Given the description of an element on the screen output the (x, y) to click on. 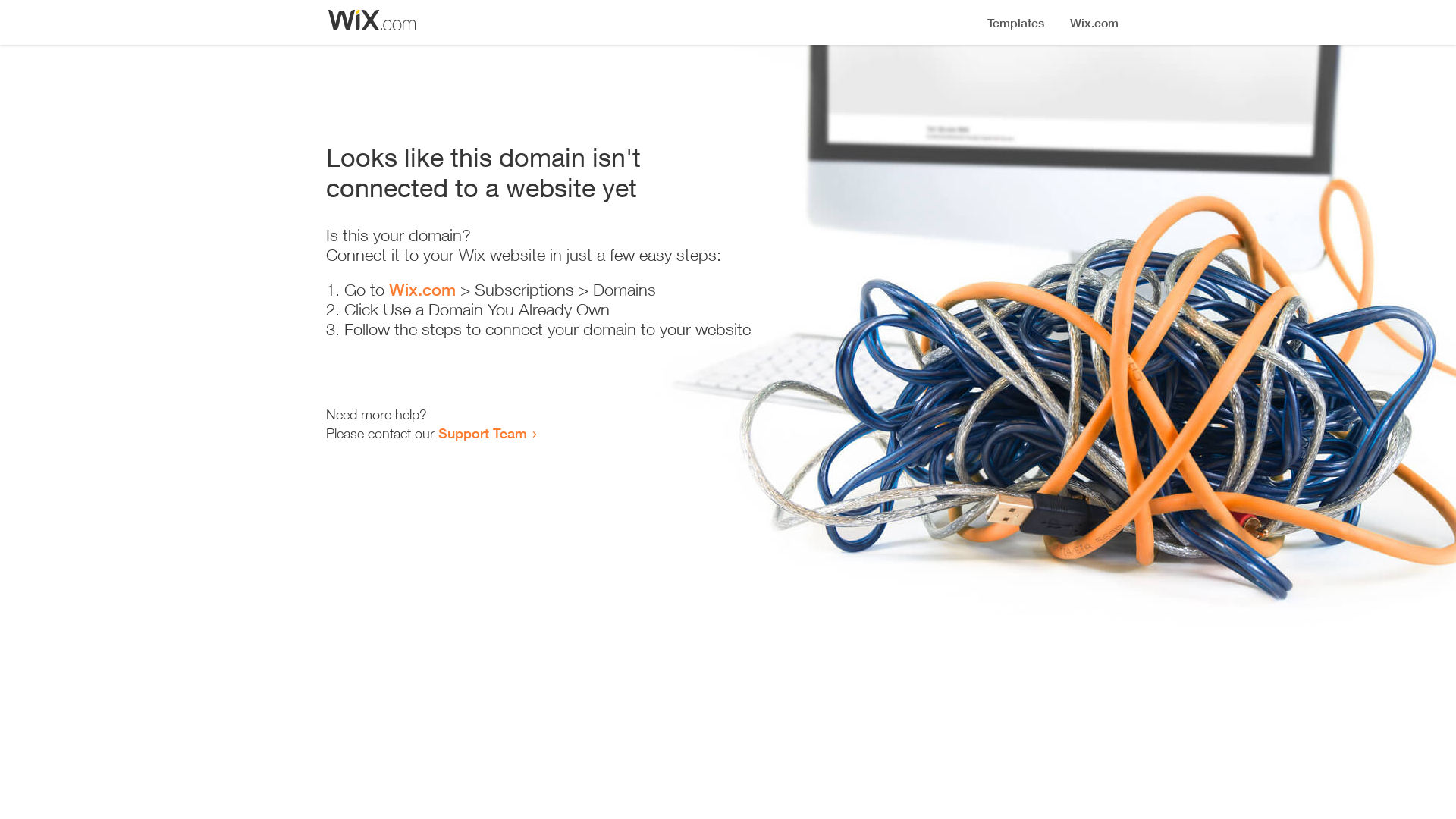
Wix.com Element type: text (422, 289)
Support Team Element type: text (482, 432)
